Given the description of an element on the screen output the (x, y) to click on. 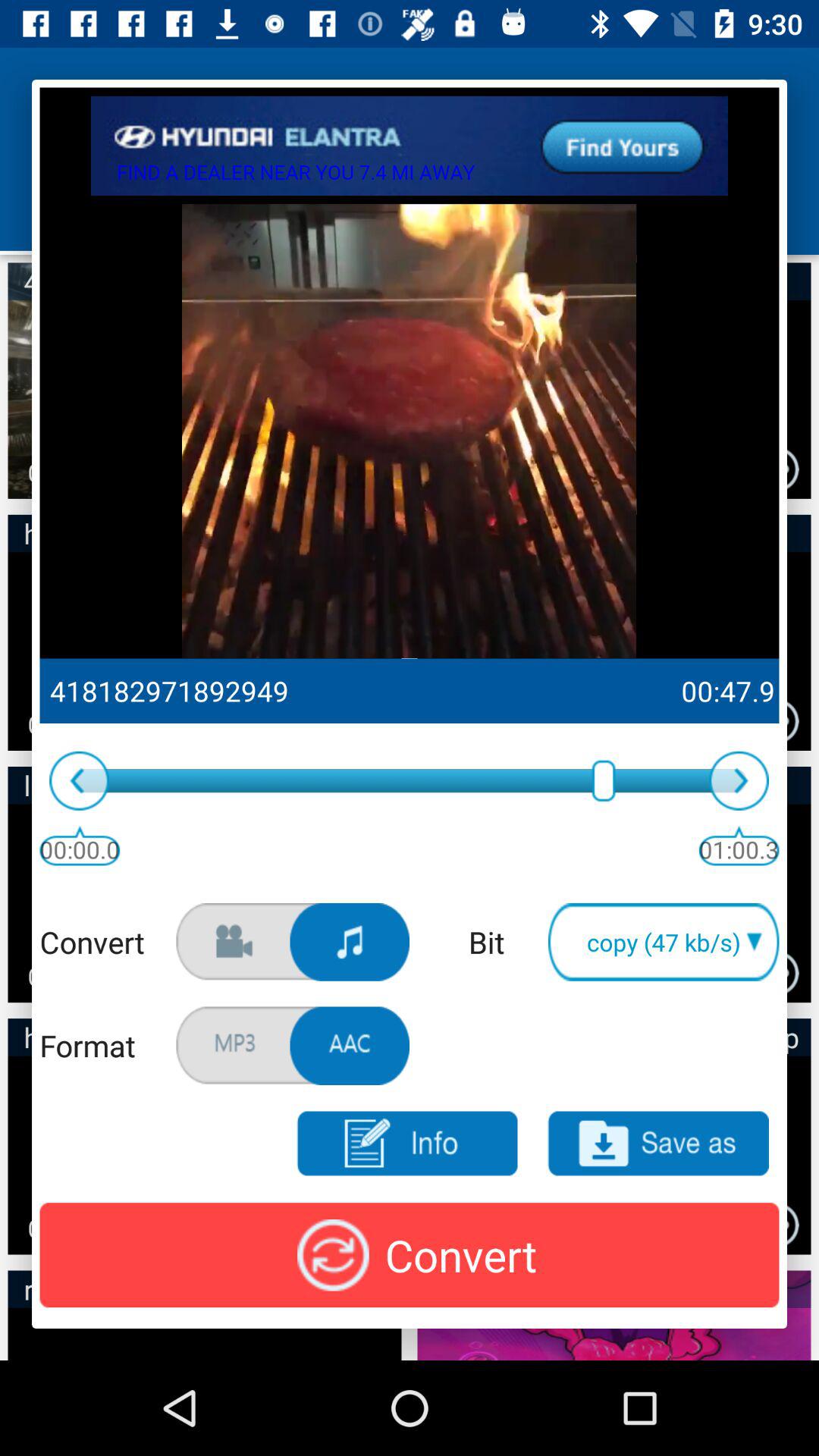
advertisements (409, 145)
